Given the description of an element on the screen output the (x, y) to click on. 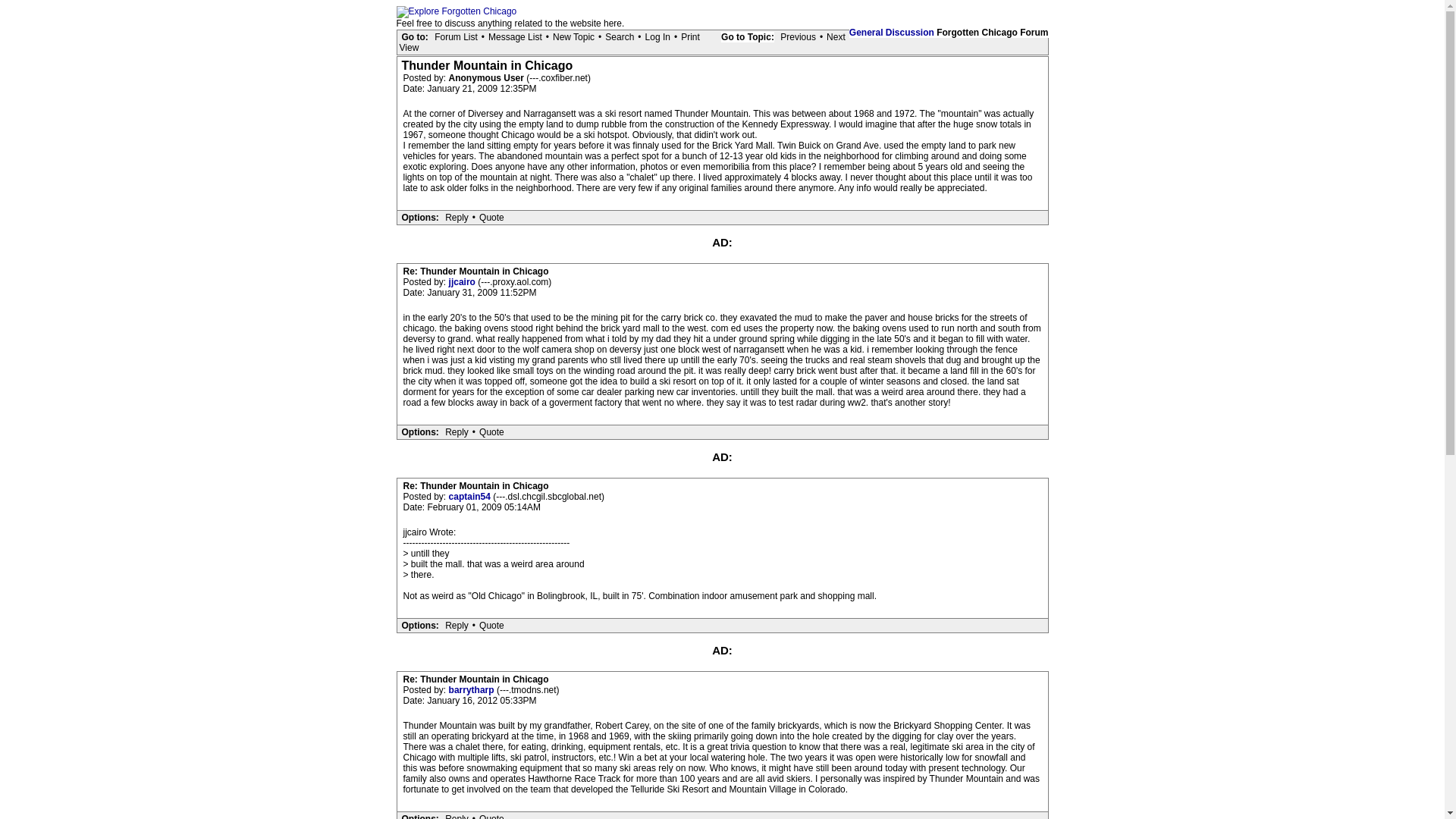
Next (835, 37)
New Topic (573, 37)
Quote (492, 625)
Forum List (455, 37)
Explore Forgotten Chicago (456, 11)
Reply (456, 625)
jjcairo (463, 281)
General Discussion (891, 32)
Quote (492, 217)
barrytharp (472, 689)
Reply (456, 217)
captain54 (470, 496)
Reply (456, 816)
Quote (492, 816)
Message List (515, 37)
